Given the description of an element on the screen output the (x, y) to click on. 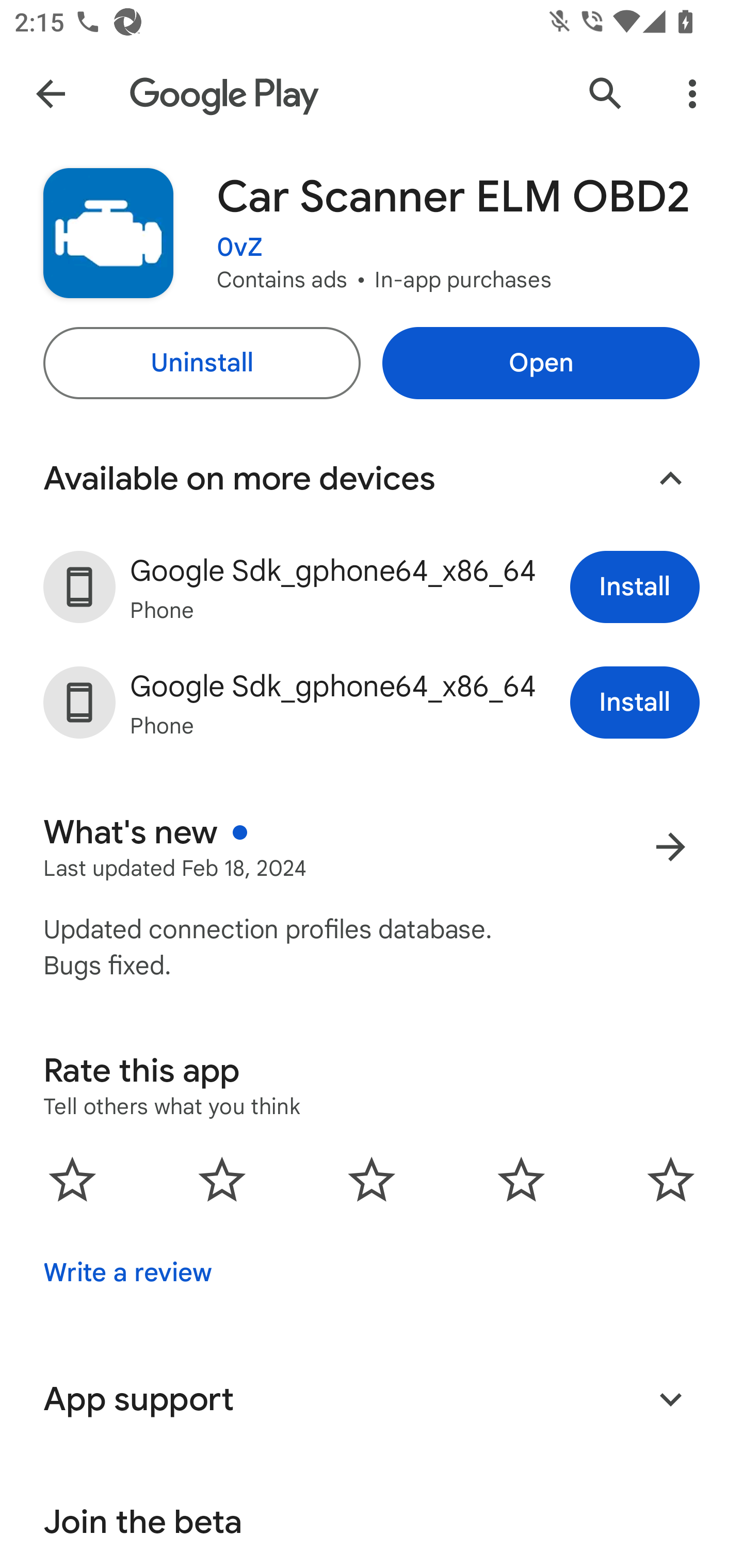
Navigate up (50, 93)
Search Google Play (605, 93)
More Options (692, 93)
0vZ (239, 247)
Uninstall (201, 362)
Open (540, 362)
Available on more devices Collapse (371, 478)
Collapse (670, 478)
Install (634, 587)
Install (634, 702)
More results for What's new (670, 846)
0.0 (371, 1179)
Write a review (127, 1272)
App support Expand (371, 1399)
Expand (670, 1399)
